Given the description of an element on the screen output the (x, y) to click on. 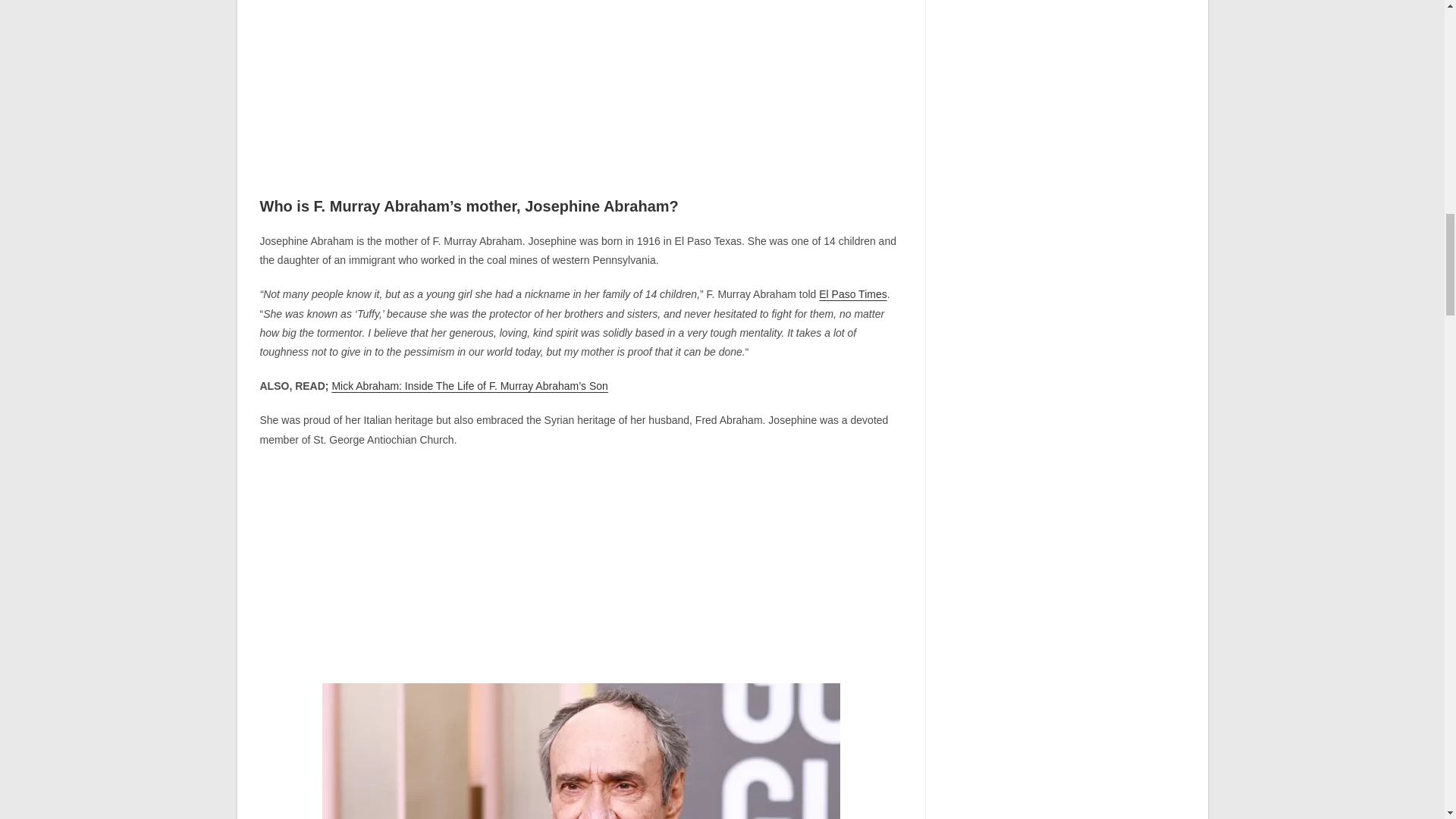
El Paso Times (852, 294)
